Given the description of an element on the screen output the (x, y) to click on. 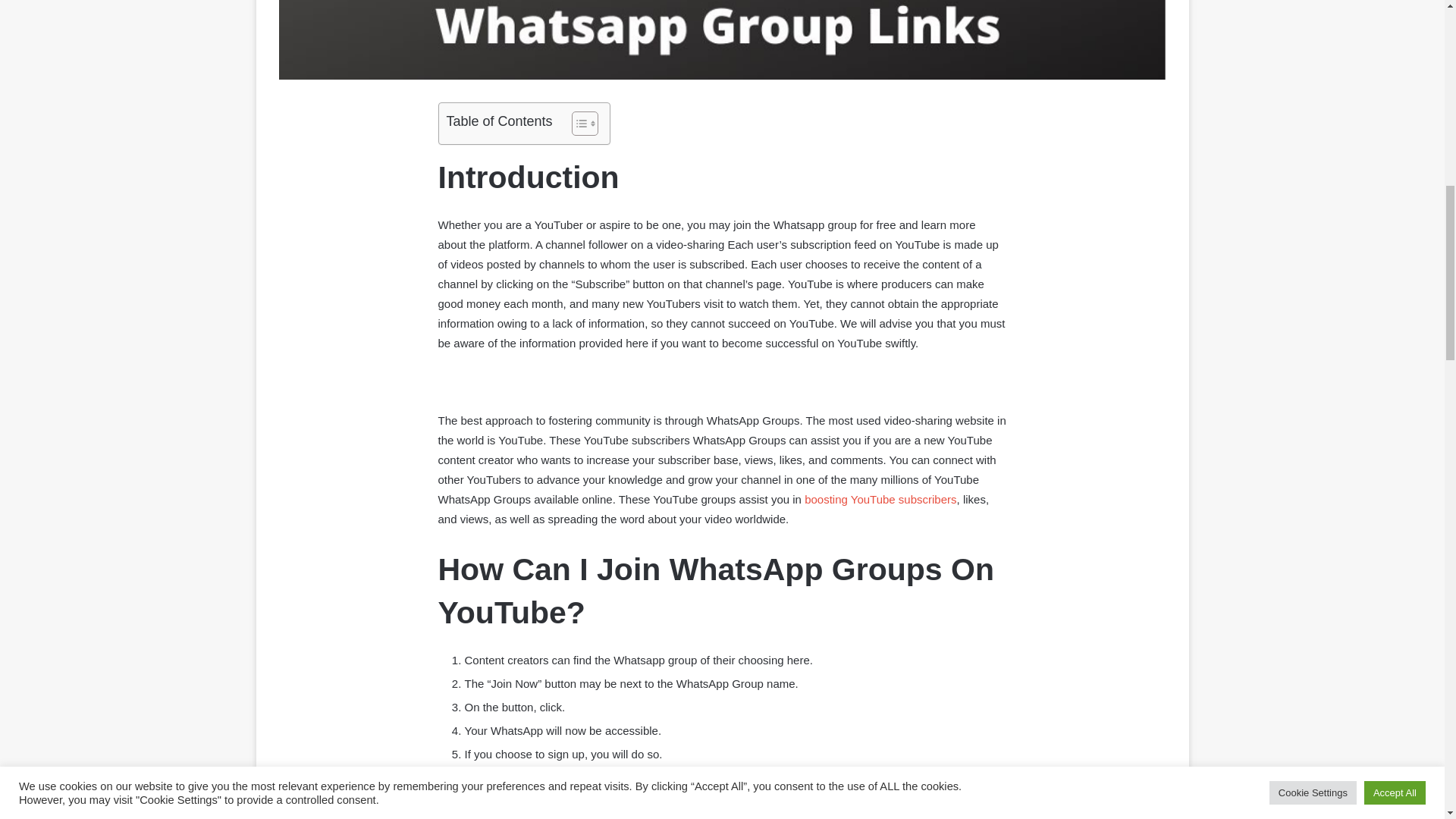
boosting YouTube subscribers (880, 499)
